Given the description of an element on the screen output the (x, y) to click on. 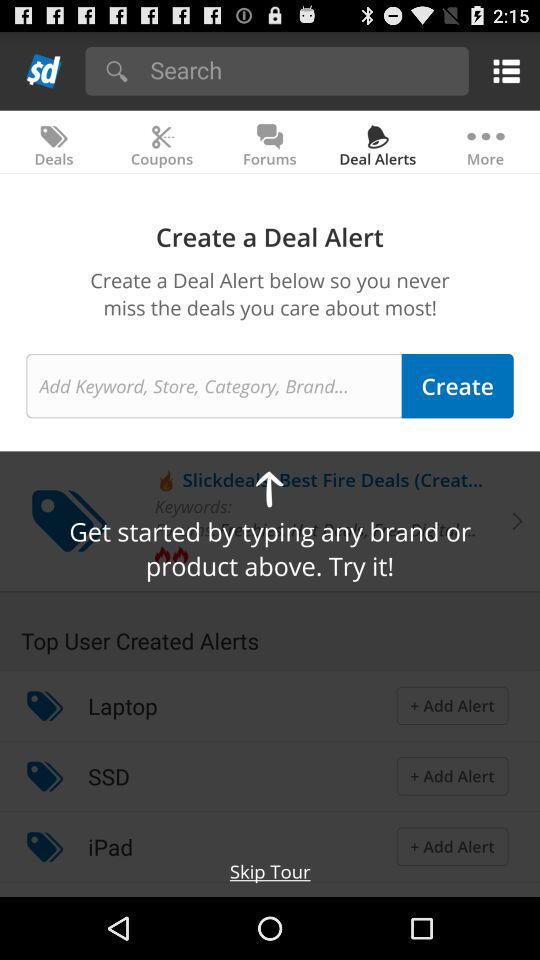
swipe until ipad (110, 846)
